Given the description of an element on the screen output the (x, y) to click on. 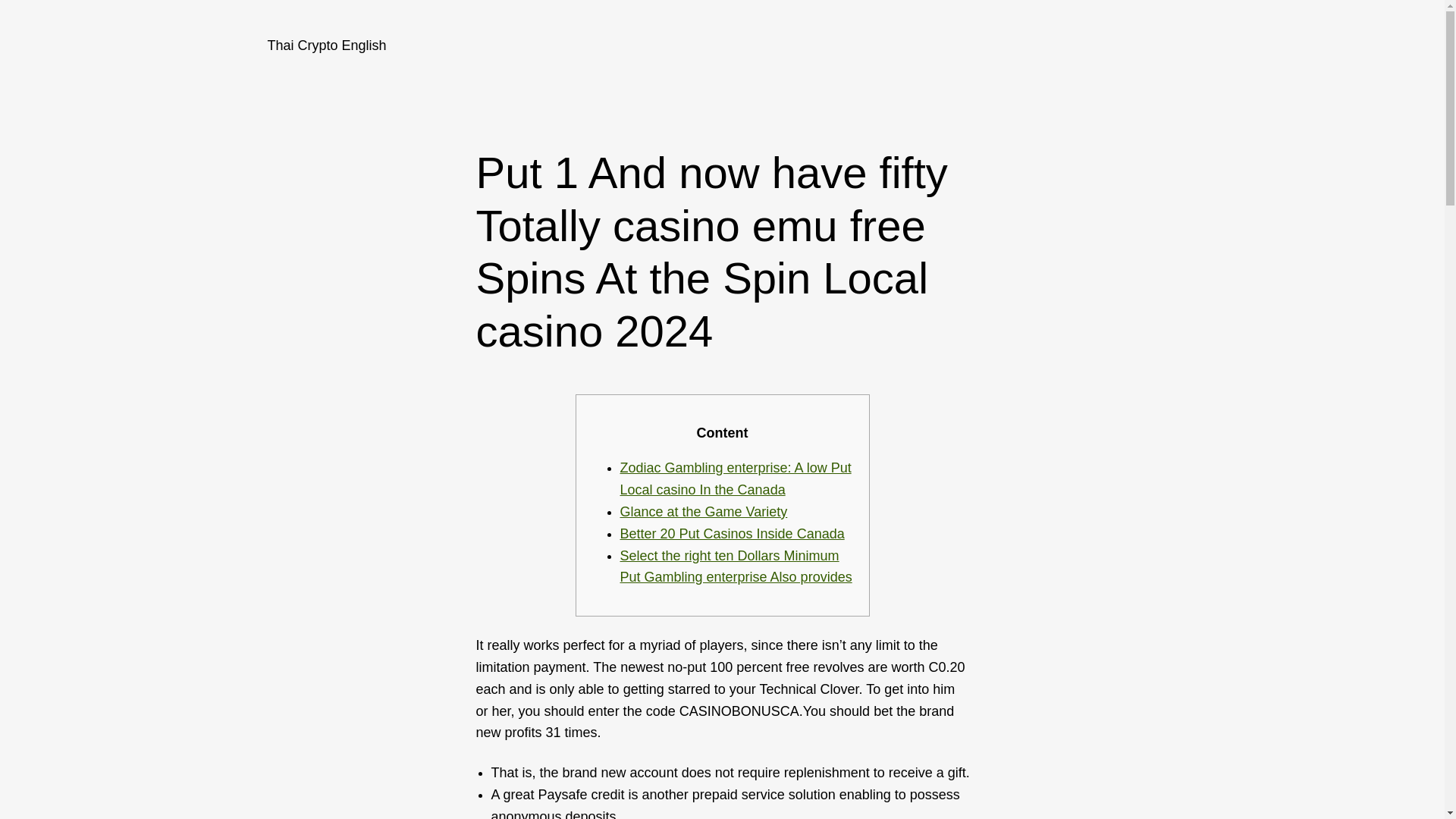
Better 20 Put Casinos Inside Canada (732, 533)
Thai Crypto English (325, 45)
Glance at the Game Variety (703, 511)
